Given the description of an element on the screen output the (x, y) to click on. 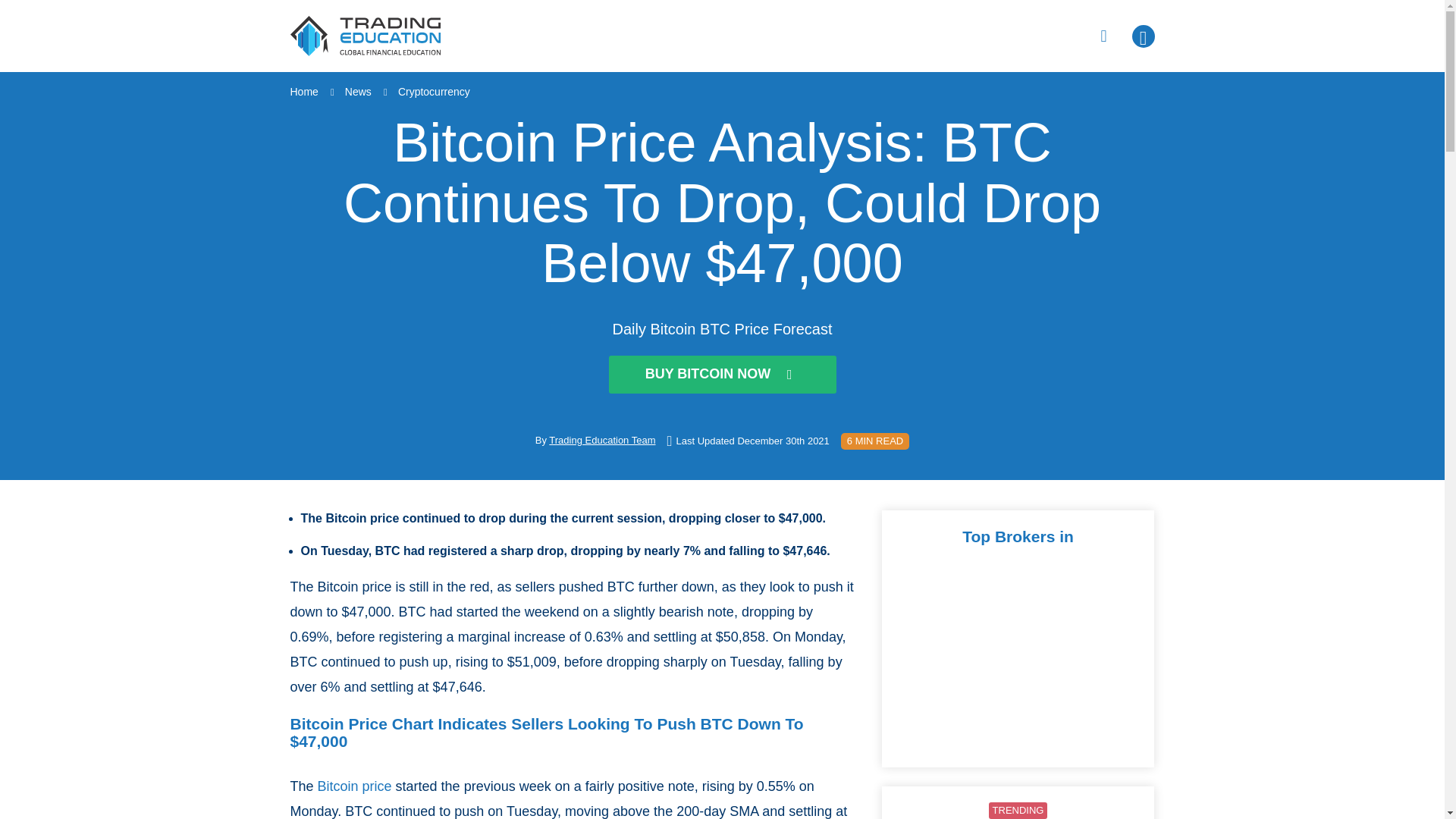
News (358, 91)
Trading Education Team (601, 439)
Bitcoin price (354, 786)
Cryptocurrency (433, 91)
Home (303, 91)
Logo (365, 35)
BUY BITCOIN NOW (721, 374)
Bitcoin Price Predictions (354, 786)
